Given the description of an element on the screen output the (x, y) to click on. 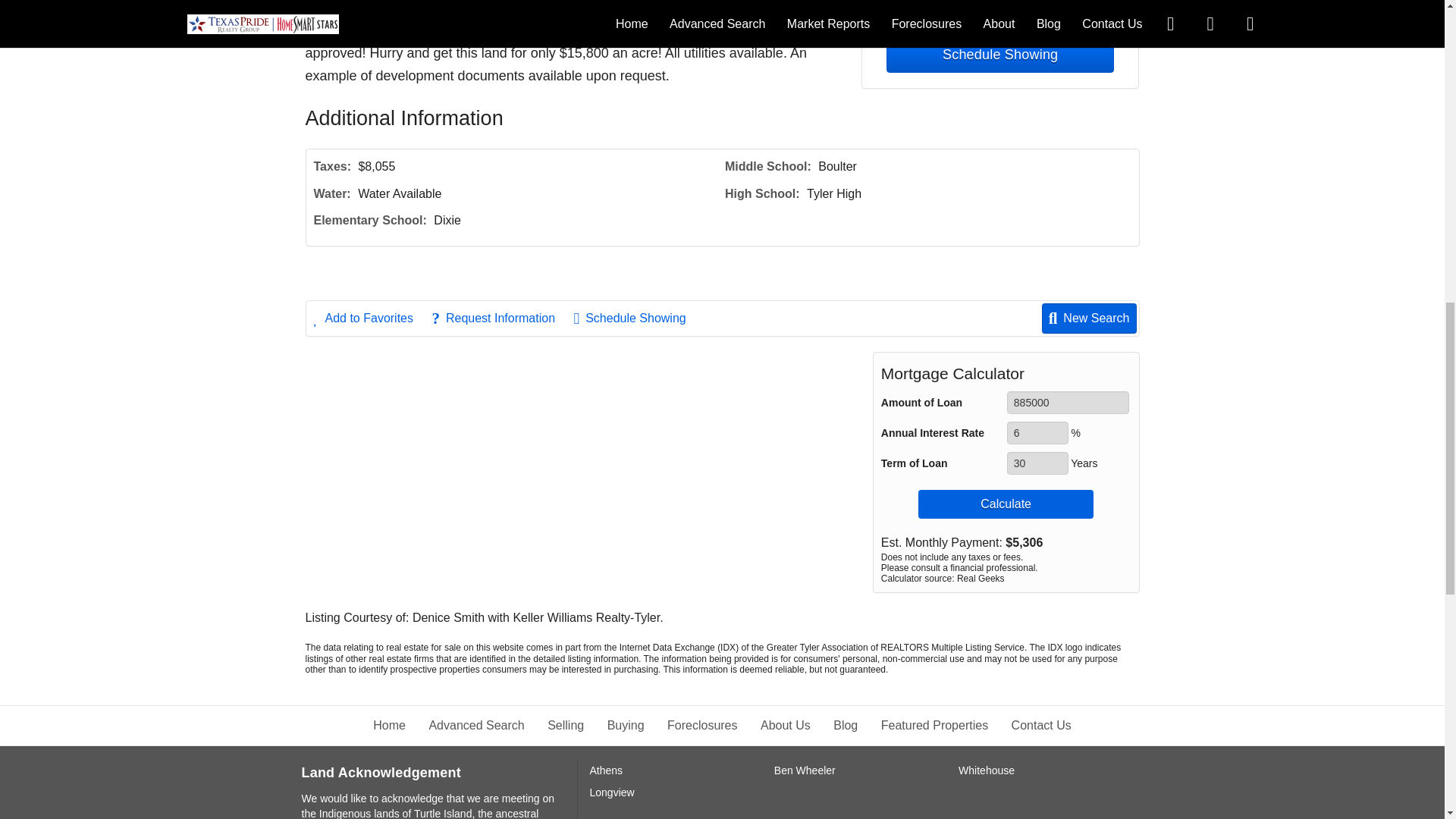
Schedule Showing (999, 54)
30 (1037, 463)
885000 (1068, 402)
Contact Us (999, 14)
6 (1037, 432)
